Given the description of an element on the screen output the (x, y) to click on. 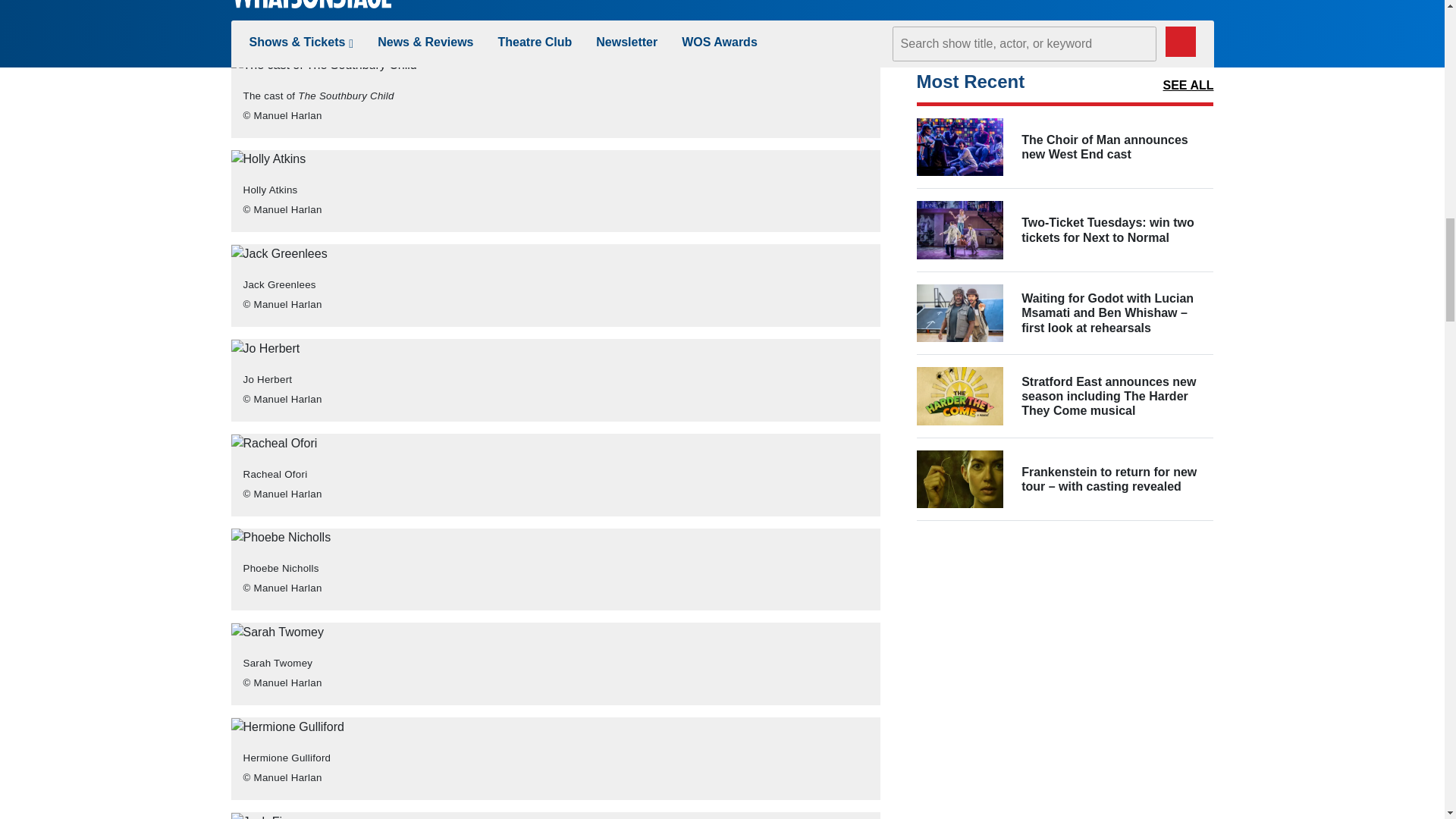
Sarah Twomey (276, 632)
Jo Herbert (264, 348)
The cast of The Southbury Child (323, 65)
Phoebe Nicholls (280, 537)
Racheal Ofori (273, 443)
Jack Greenlees (278, 253)
Josh Finan (265, 816)
Holly Atkins (267, 158)
Hermione Gulliford (286, 727)
